Given the description of an element on the screen output the (x, y) to click on. 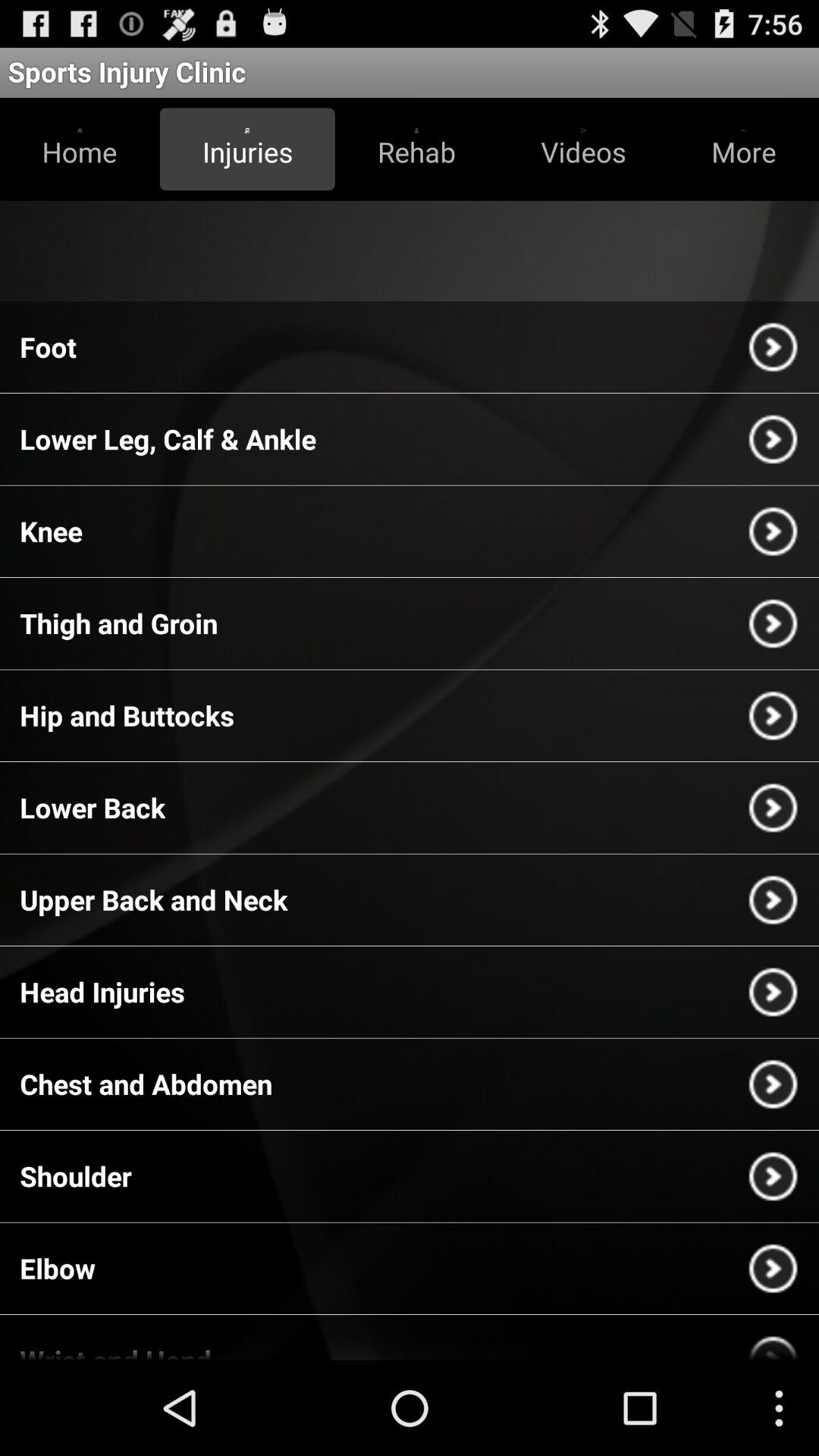
open the foot item (47, 346)
